Given the description of an element on the screen output the (x, y) to click on. 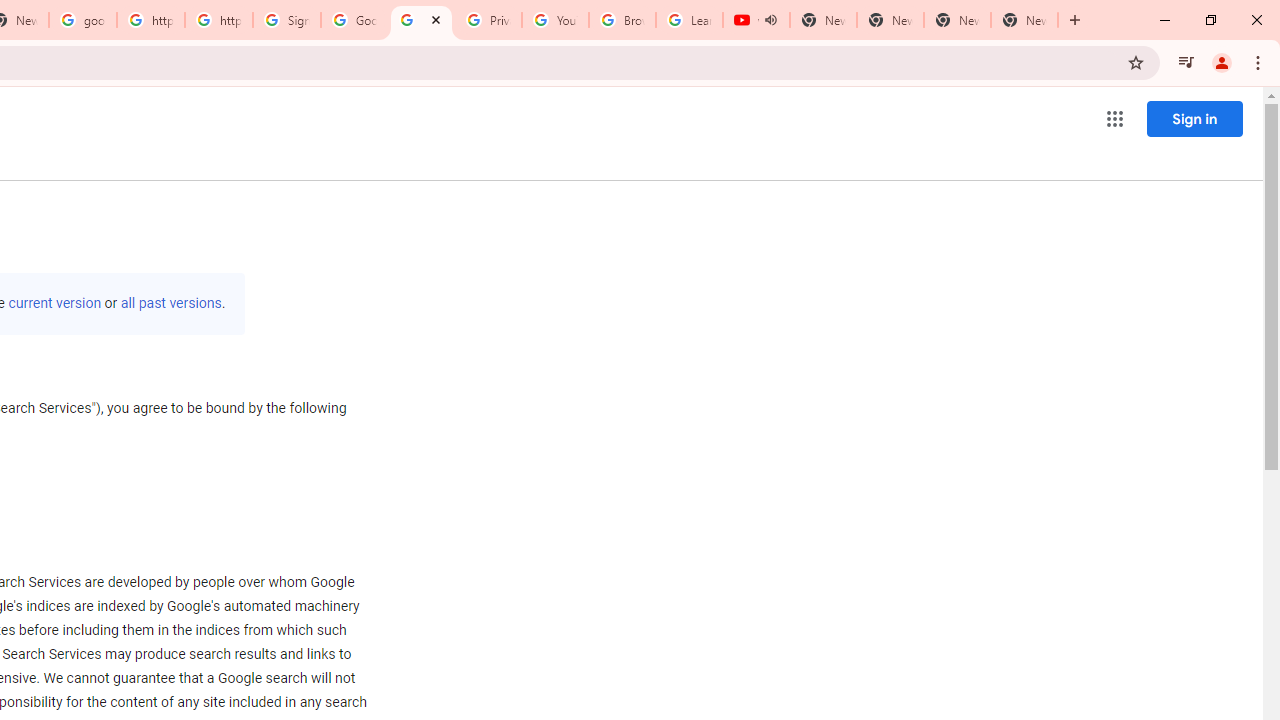
https://scholar.google.com/ (219, 20)
current version (54, 303)
New Tab (1024, 20)
Sign in (1194, 118)
